Given the description of an element on the screen output the (x, y) to click on. 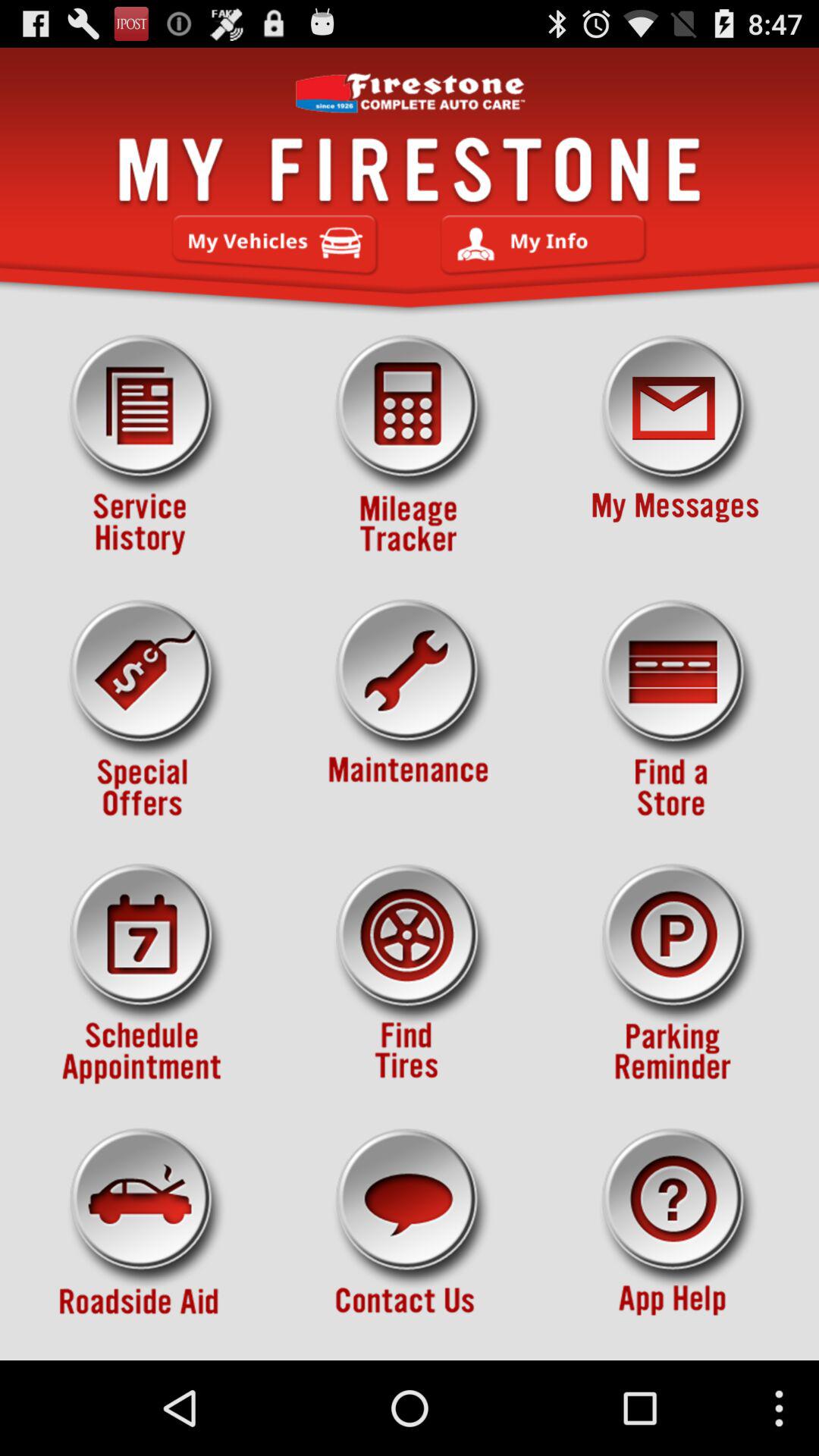
help (675, 1238)
